Given the description of an element on the screen output the (x, y) to click on. 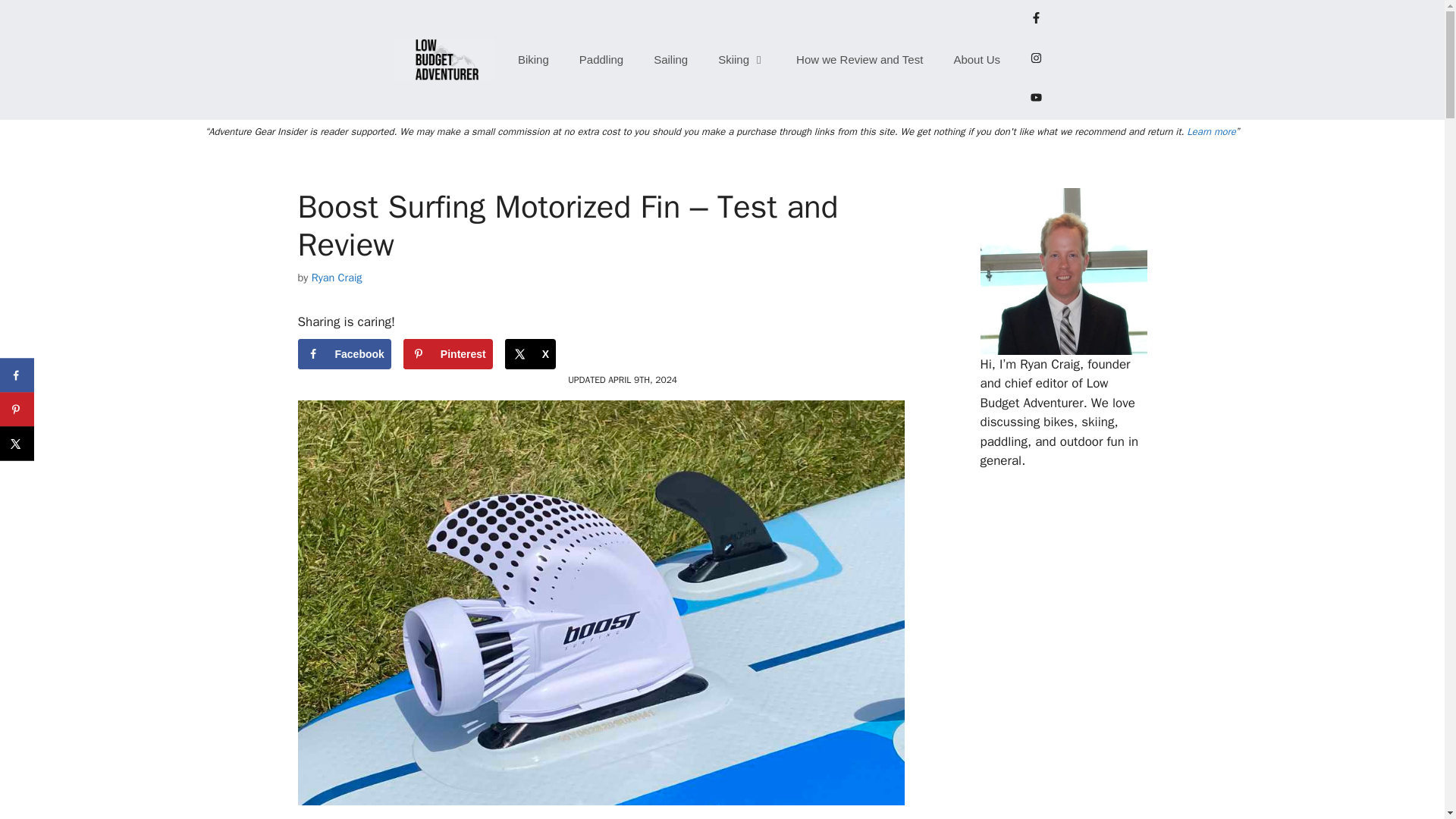
Share on Facebook (16, 374)
Learn more (1210, 130)
Share on X (530, 354)
Biking (533, 59)
Facebook (343, 354)
How we Review and Test (858, 59)
Ryan Craig (336, 277)
Paddling (601, 59)
About Us (975, 59)
Skiing (741, 59)
Share on Facebook (343, 354)
Pinterest (448, 354)
X (530, 354)
Sailing (671, 59)
View all posts by Ryan Craig (336, 277)
